Given the description of an element on the screen output the (x, y) to click on. 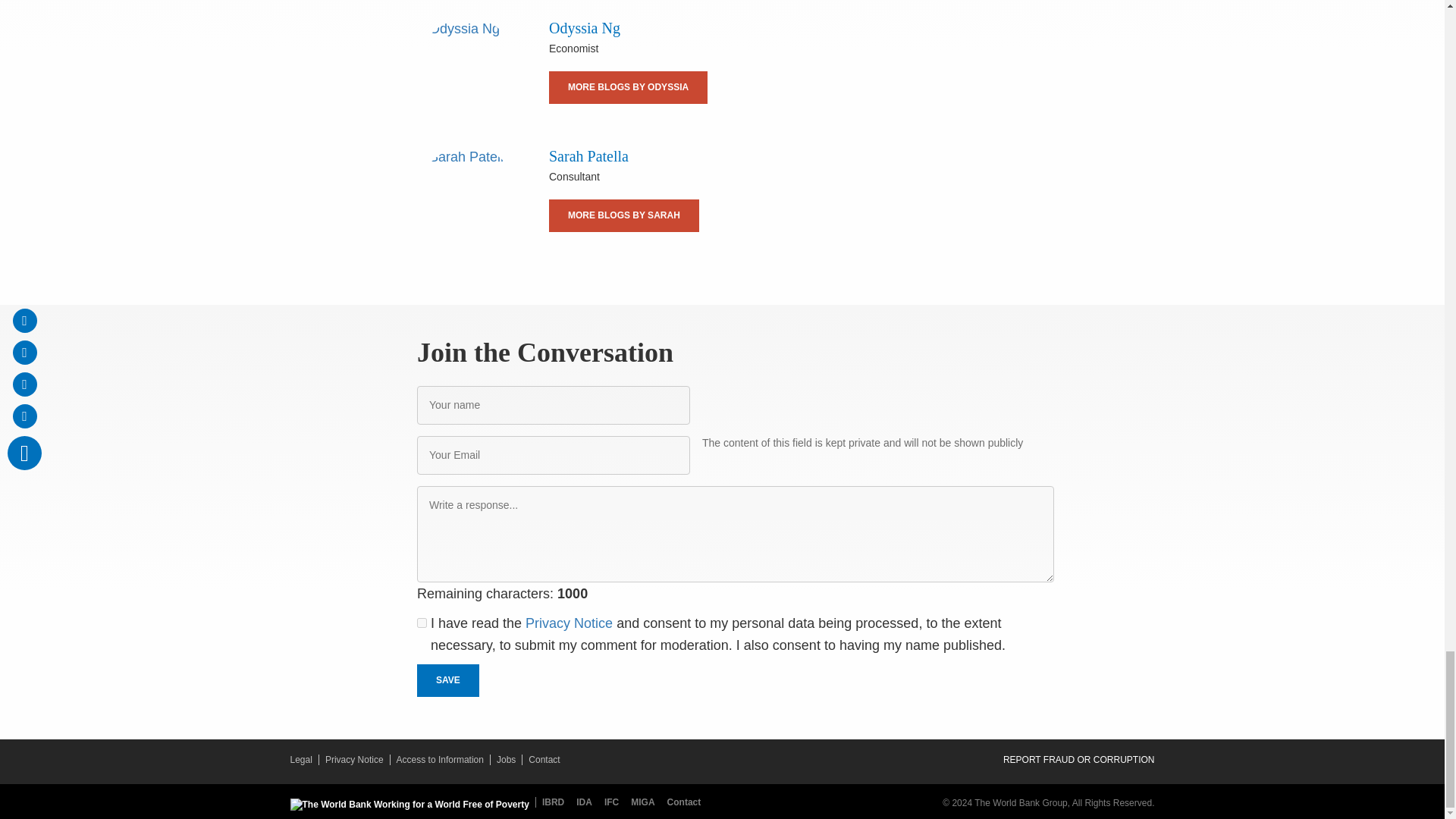
The World Bank Working for a World Free of Poverty (408, 804)
Sarah Patella (467, 197)
IFC (614, 801)
IDA (587, 801)
Your name (553, 405)
Odyssia Ng (467, 68)
IBRD (552, 801)
1 (421, 623)
